Given the description of an element on the screen output the (x, y) to click on. 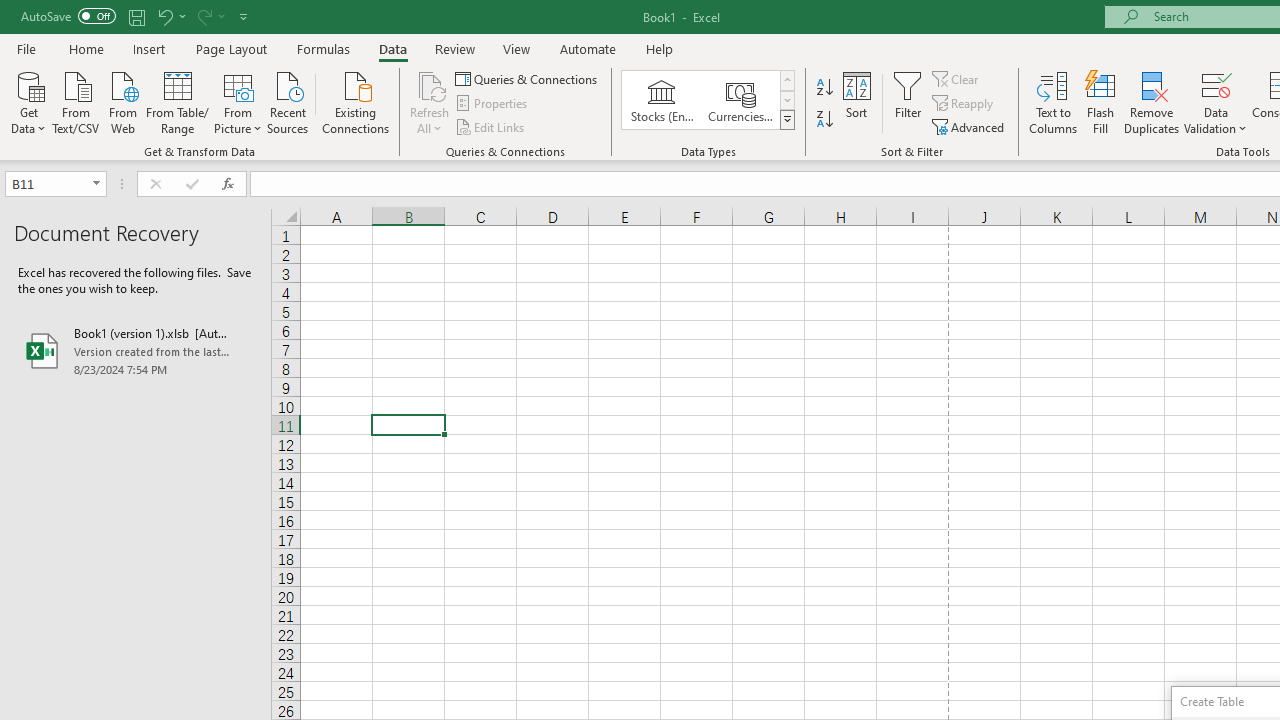
Stocks (English) (662, 100)
Clear (957, 78)
Advanced... (970, 126)
Redo (203, 15)
Formulas (323, 48)
Remove Duplicates (1151, 102)
Review (454, 48)
AutoSave (68, 16)
System (10, 11)
Automate (588, 48)
Help (660, 48)
Undo (164, 15)
